Given the description of an element on the screen output the (x, y) to click on. 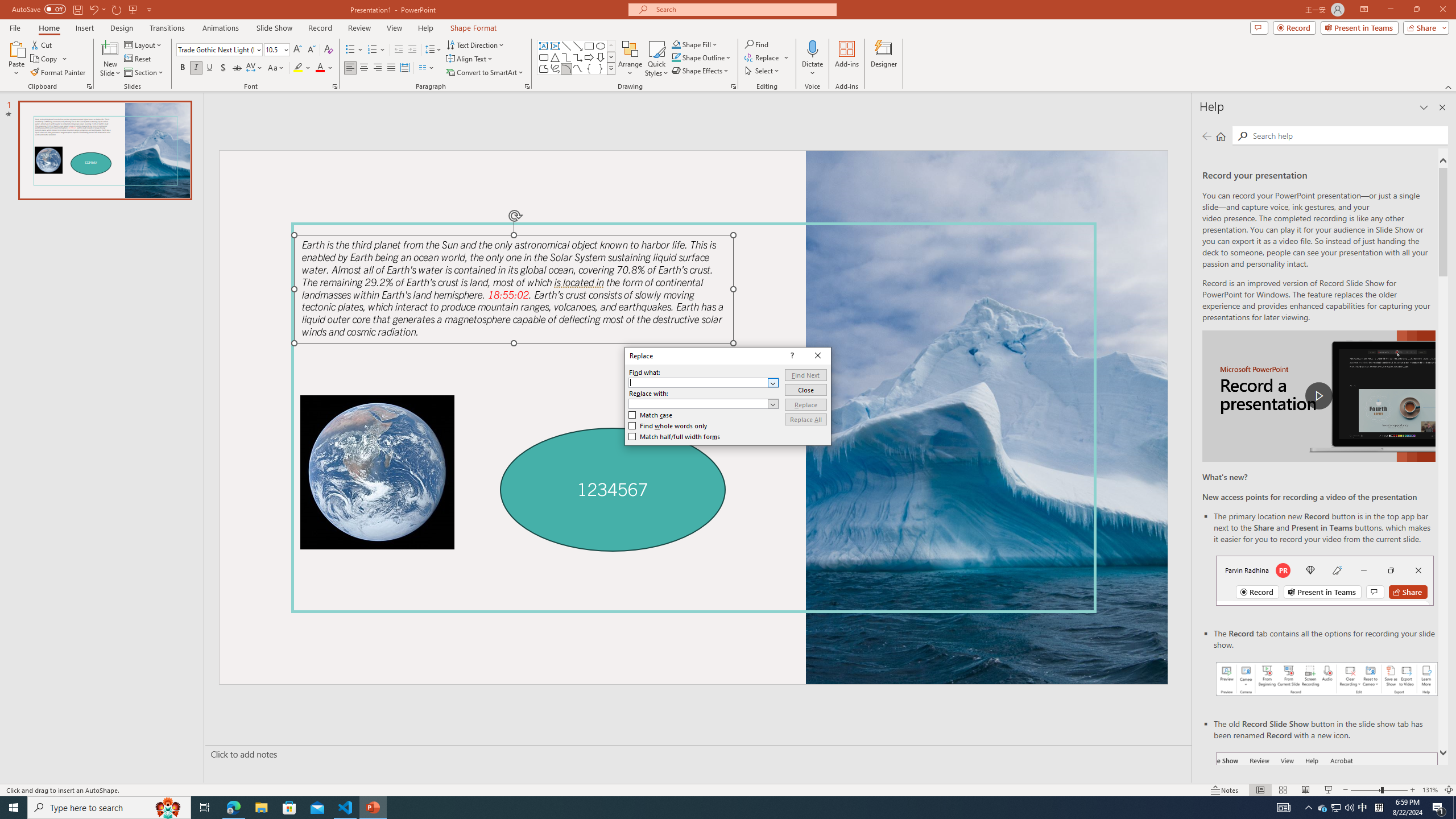
Arrow: Right (589, 57)
Font Color (324, 67)
Replace All (805, 418)
